Given the description of an element on the screen output the (x, y) to click on. 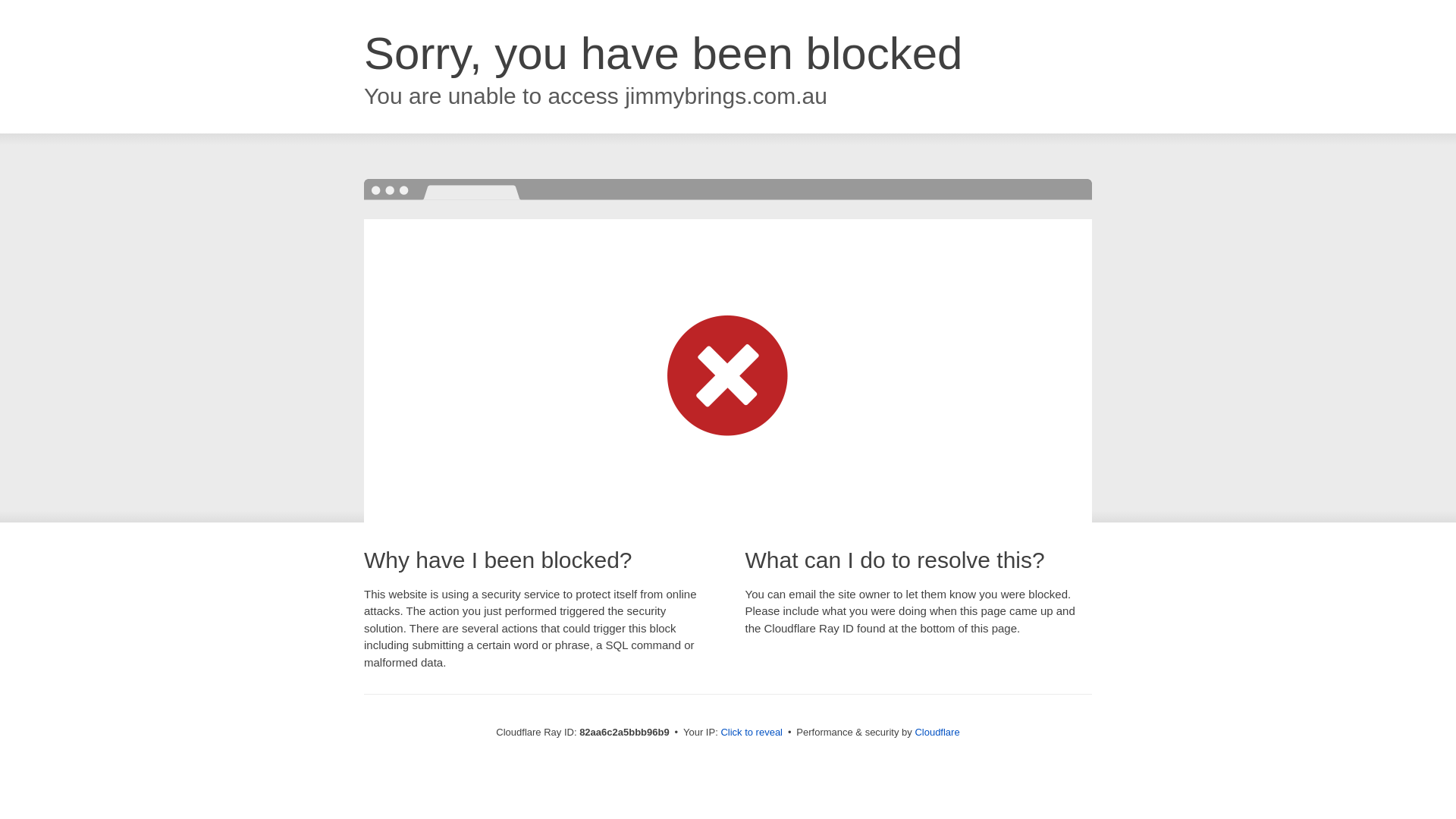
Cloudflare Element type: text (936, 731)
Click to reveal Element type: text (751, 732)
